Given the description of an element on the screen output the (x, y) to click on. 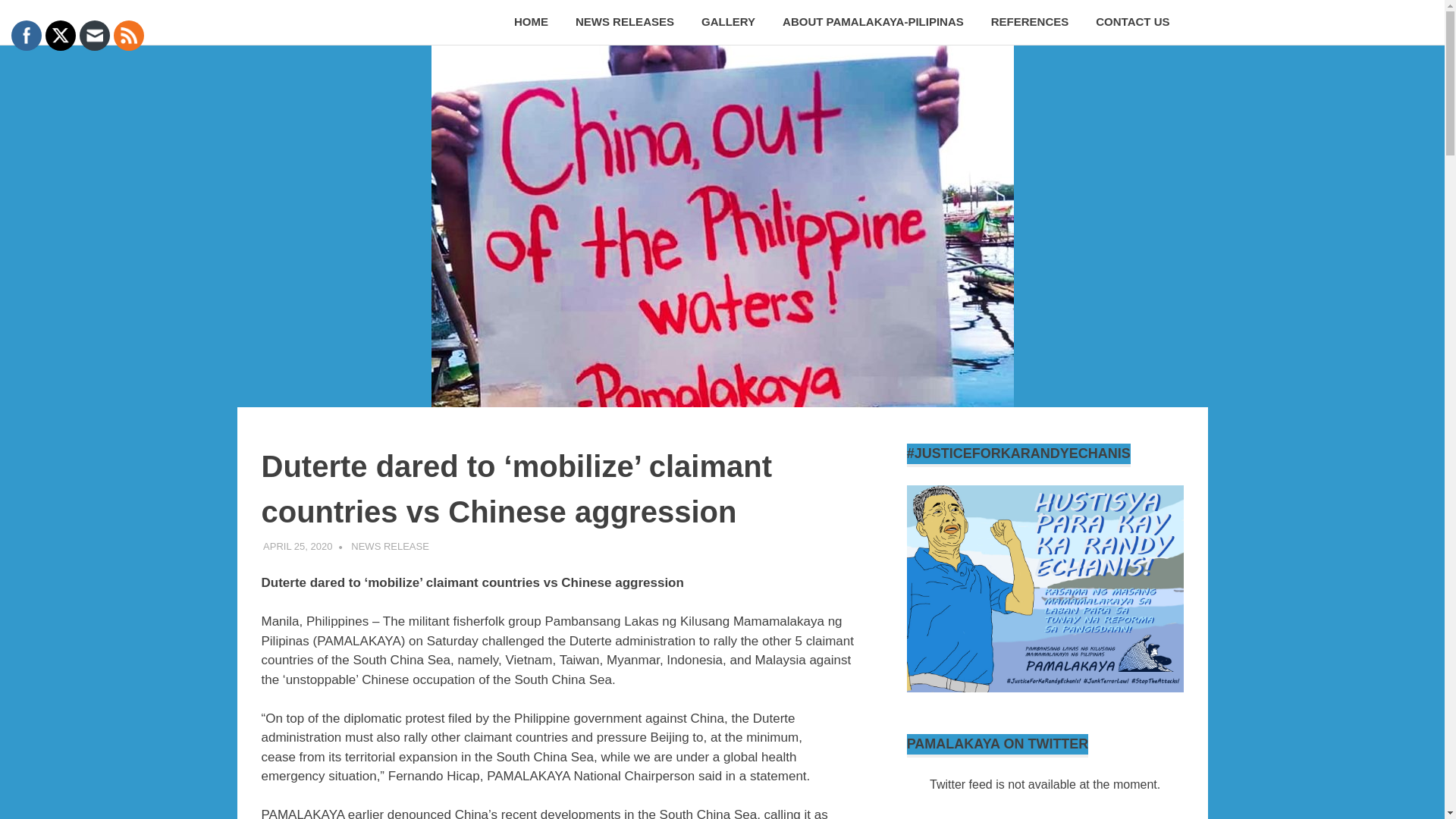
NEWS RELEASES (624, 22)
Ang Pamalakaya - Pebrero 2020 (1045, 588)
ABOUT PAMALAKAYA-PILIPINAS (872, 22)
1:11 pm (297, 546)
Twitter (60, 35)
GALLERY (727, 22)
View all posts by pamalakayaweb (392, 546)
Facebook (25, 35)
HOME (531, 22)
NEWS RELEASE (389, 546)
